Given the description of an element on the screen output the (x, y) to click on. 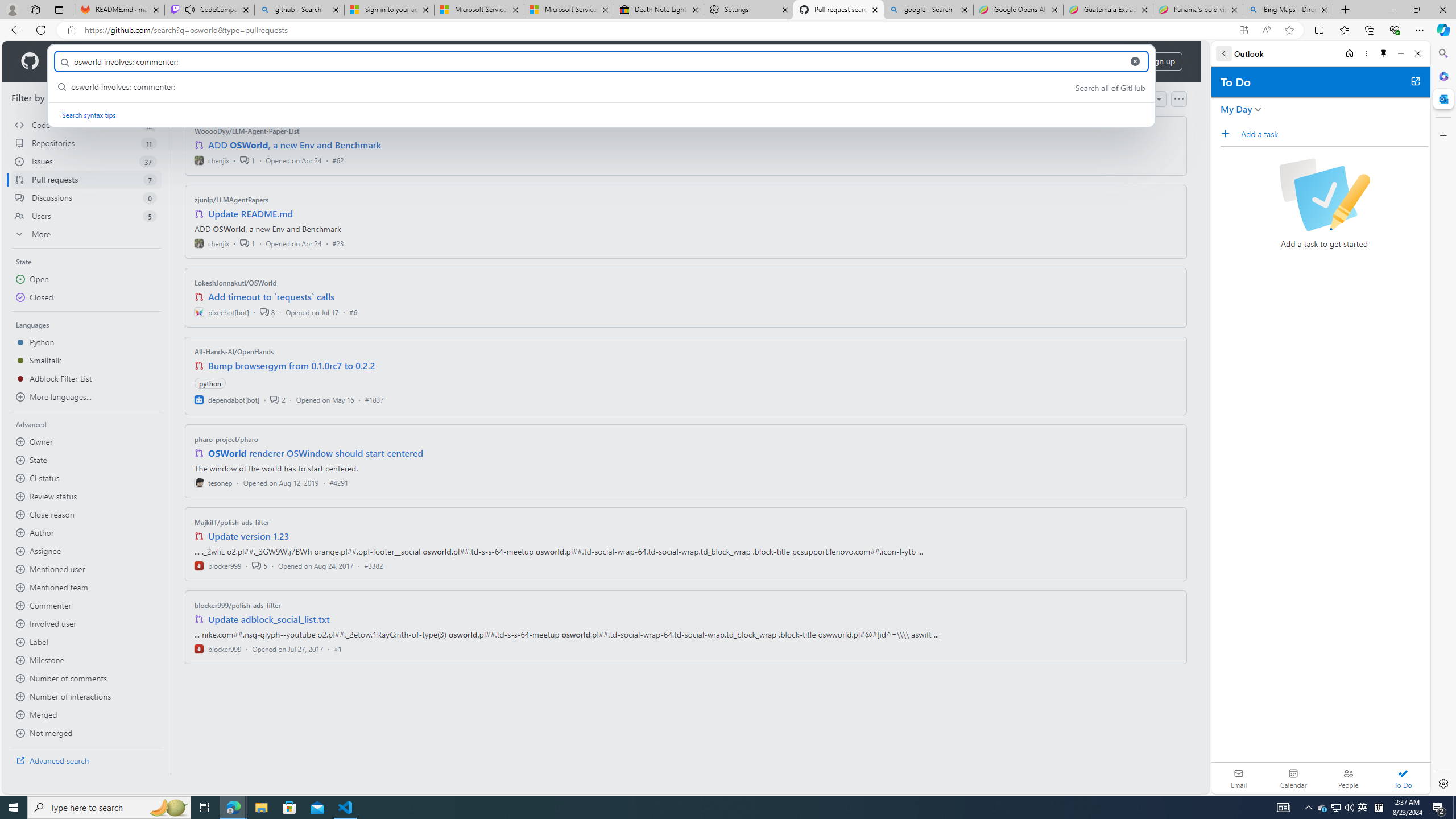
More languages... (86, 397)
#4291 (338, 482)
Enterprise (319, 60)
dependabot[bot] (227, 398)
#4291 (338, 482)
blocker999 (218, 648)
